Given the description of an element on the screen output the (x, y) to click on. 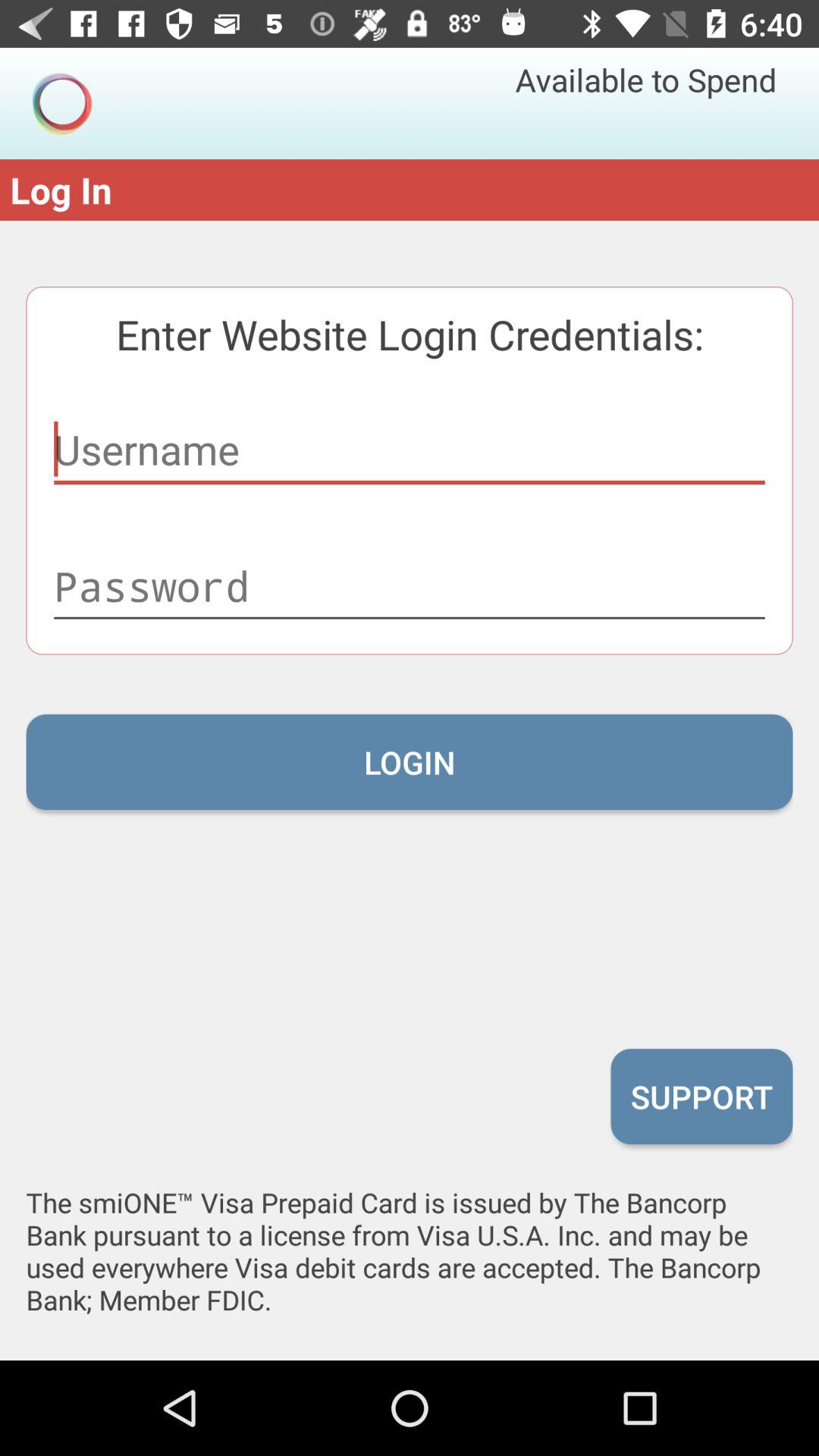
enter username to login (409, 449)
